Given the description of an element on the screen output the (x, y) to click on. 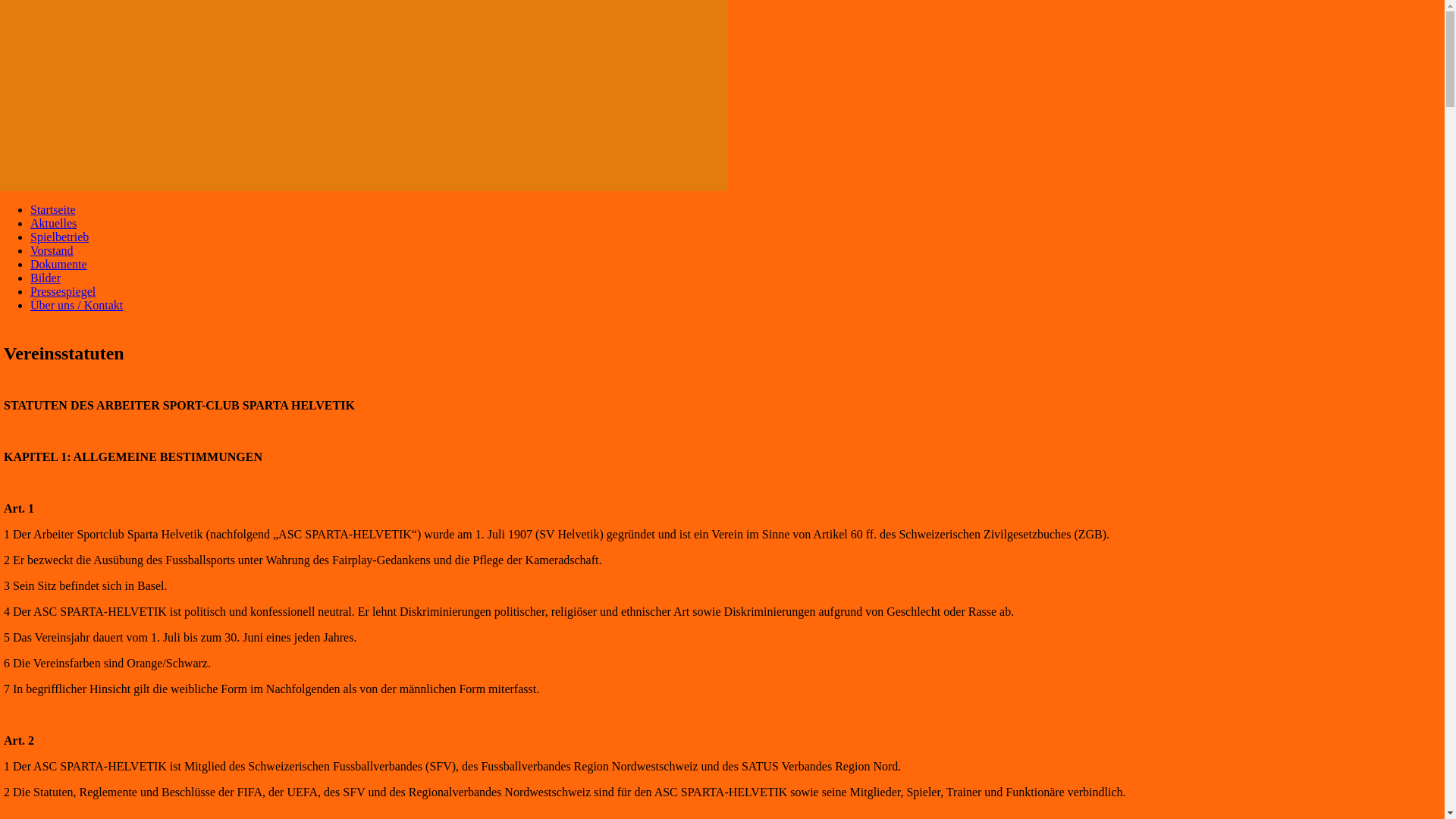
Startseite Element type: text (52, 209)
Aktuelles Element type: text (53, 222)
Bilder Element type: text (45, 277)
Spielbetrieb Element type: text (59, 236)
Pressespiegel Element type: text (62, 291)
Dokumente Element type: text (58, 263)
Vorstand Element type: text (51, 250)
